Given the description of an element on the screen output the (x, y) to click on. 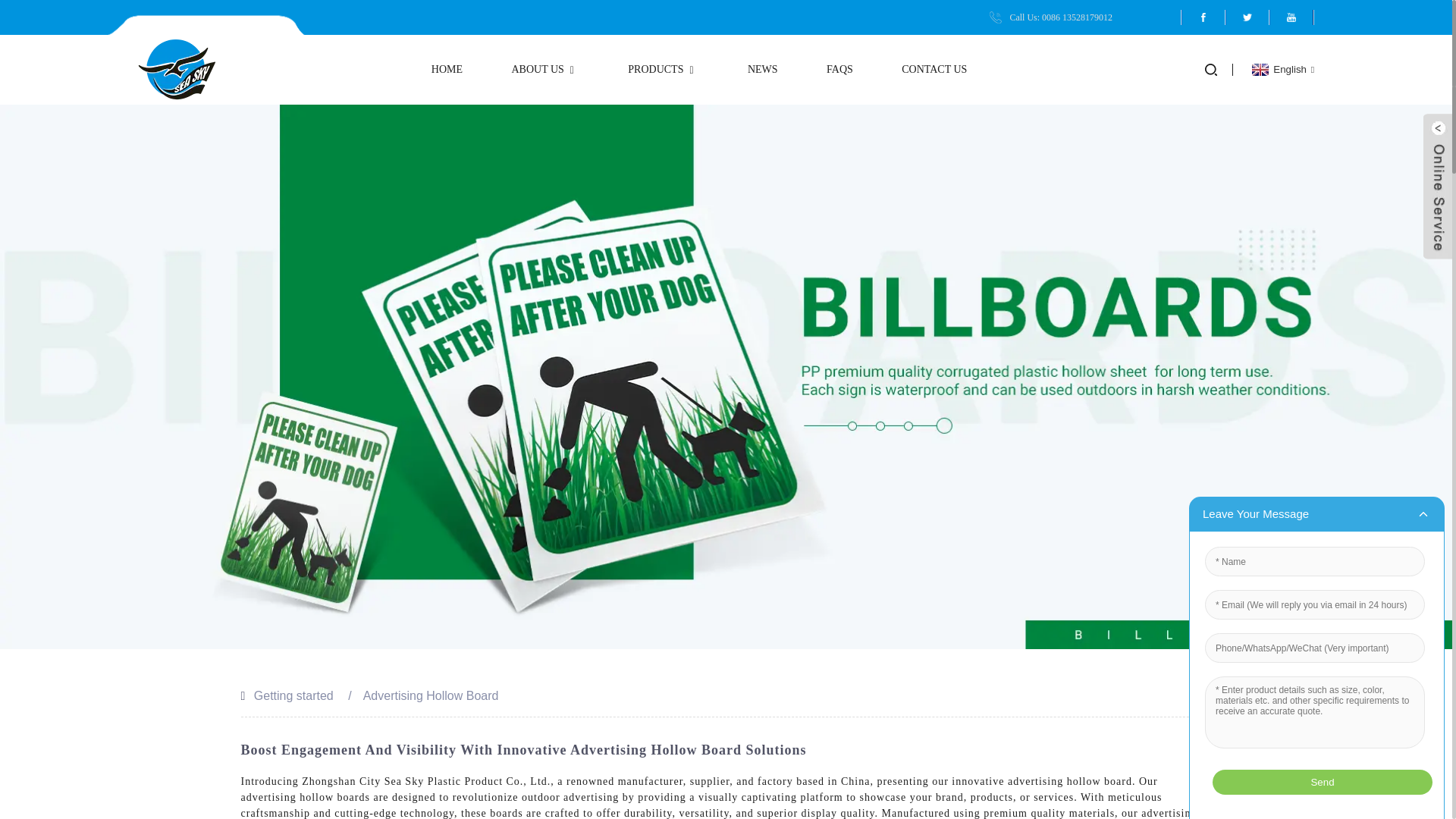
CONTACT US (933, 69)
Advertising Hollow Board (430, 695)
Getting started (293, 695)
English (1280, 69)
PRODUCTS (662, 69)
ABOUT US (544, 69)
NEWS (762, 69)
HOME (446, 69)
Call Us: 0086 13528179012 (1051, 17)
